Given the description of an element on the screen output the (x, y) to click on. 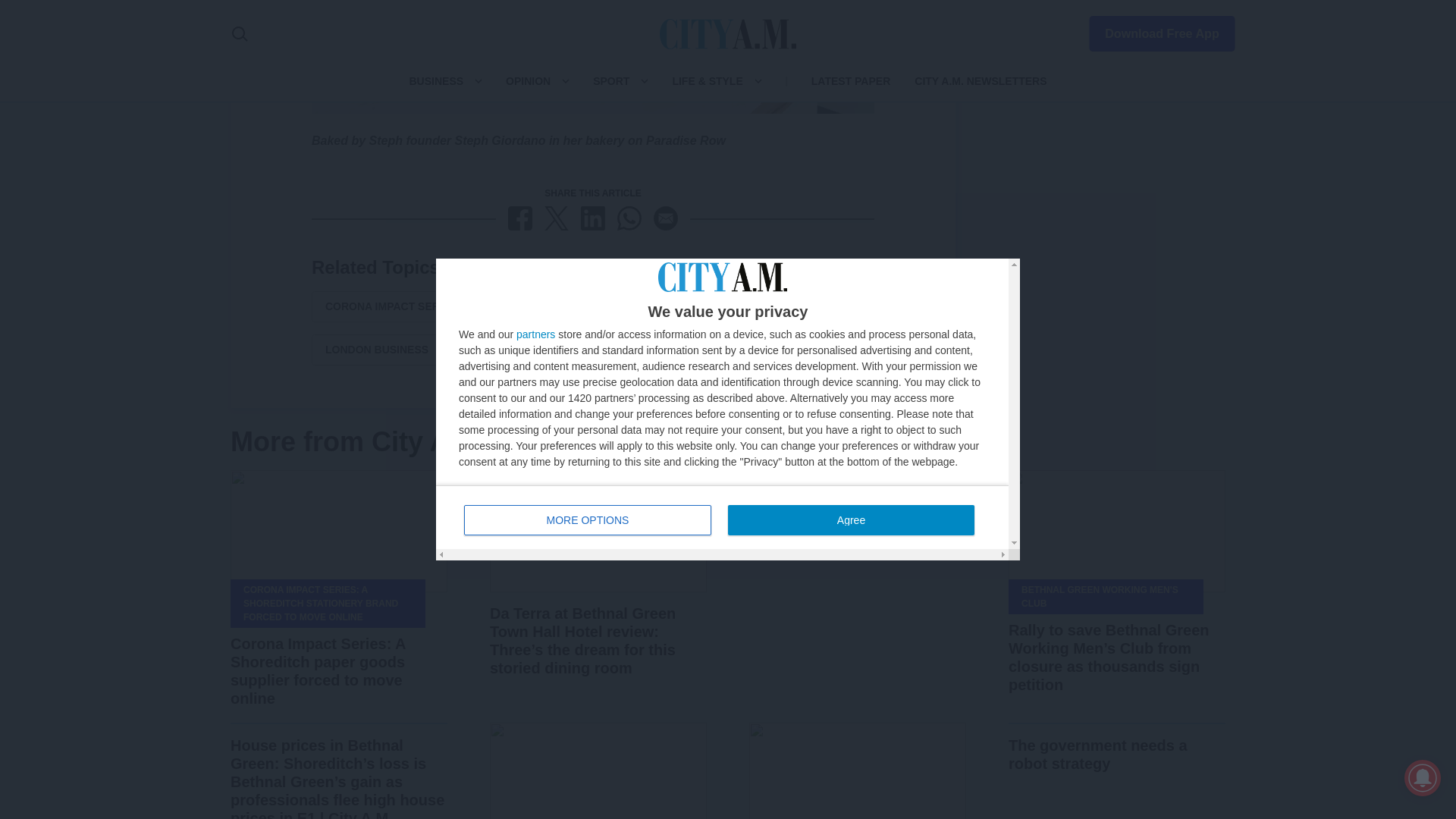
WhatsApp (629, 218)
X (556, 218)
Facebook (520, 218)
LinkedIn (592, 218)
Email (665, 218)
